Given the description of an element on the screen output the (x, y) to click on. 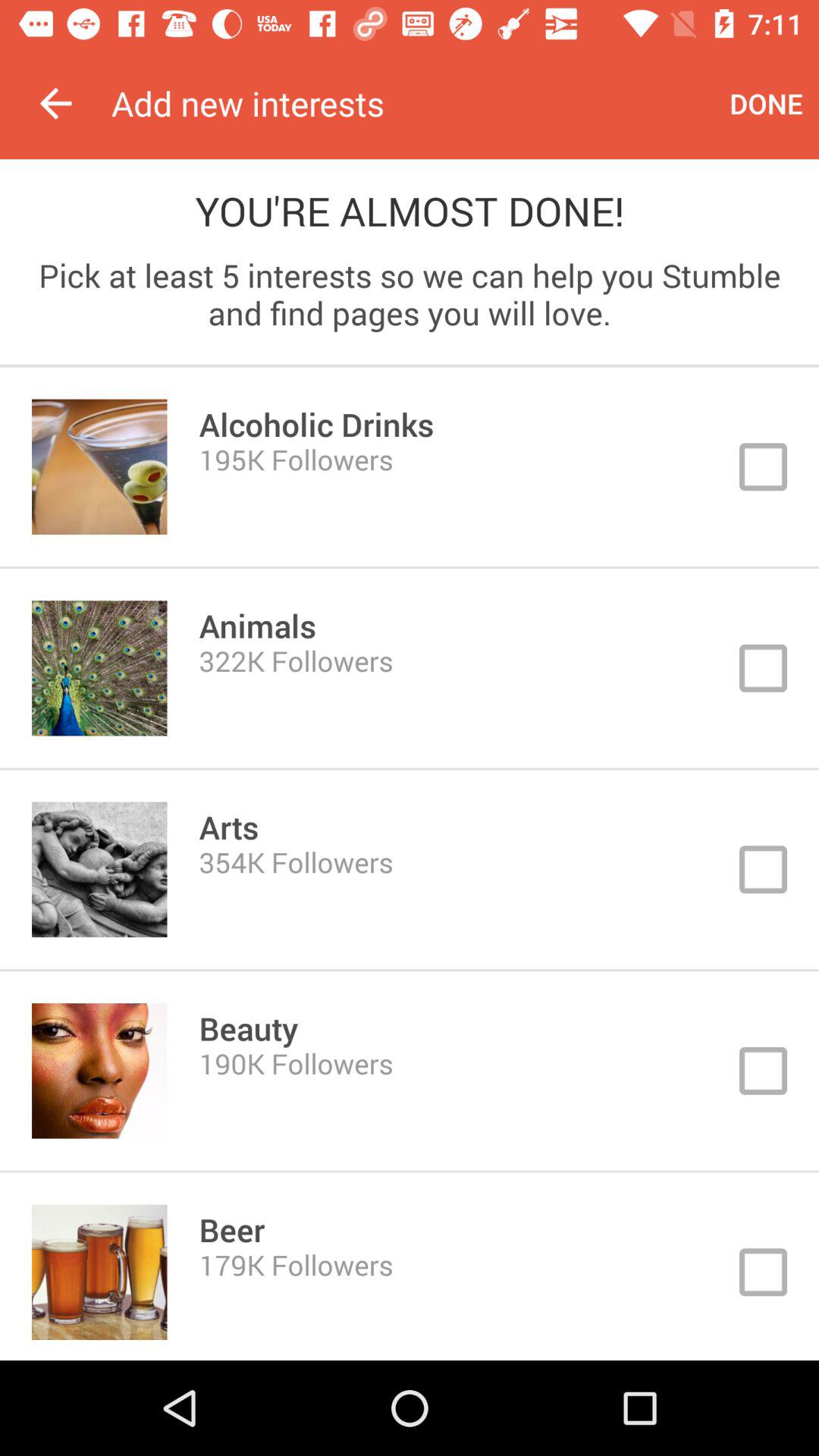
click item next to add new interests (55, 103)
